Given the description of an element on the screen output the (x, y) to click on. 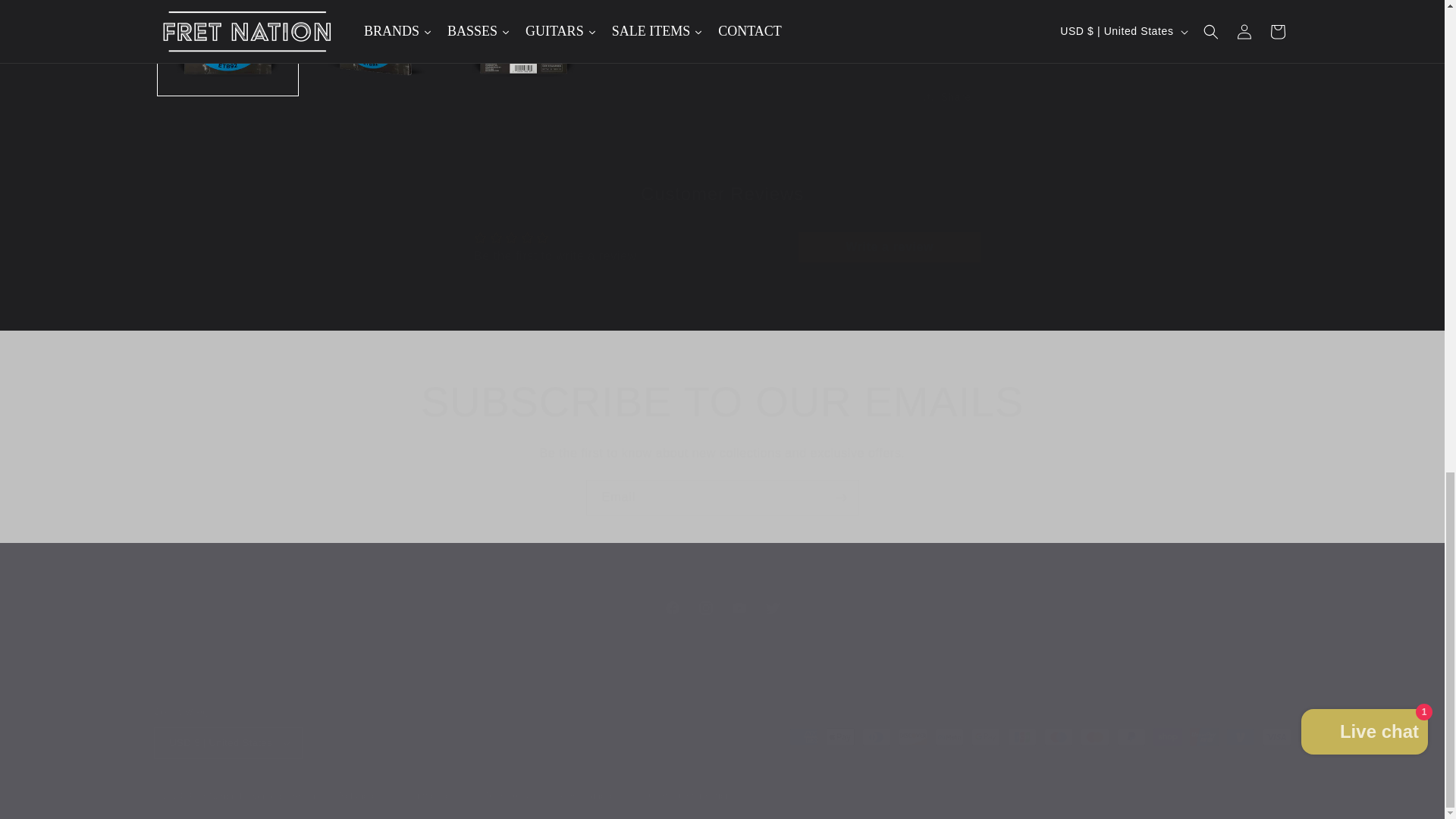
SUBSCRIBE TO OUR EMAILS (721, 401)
Email (722, 497)
